Given the description of an element on the screen output the (x, y) to click on. 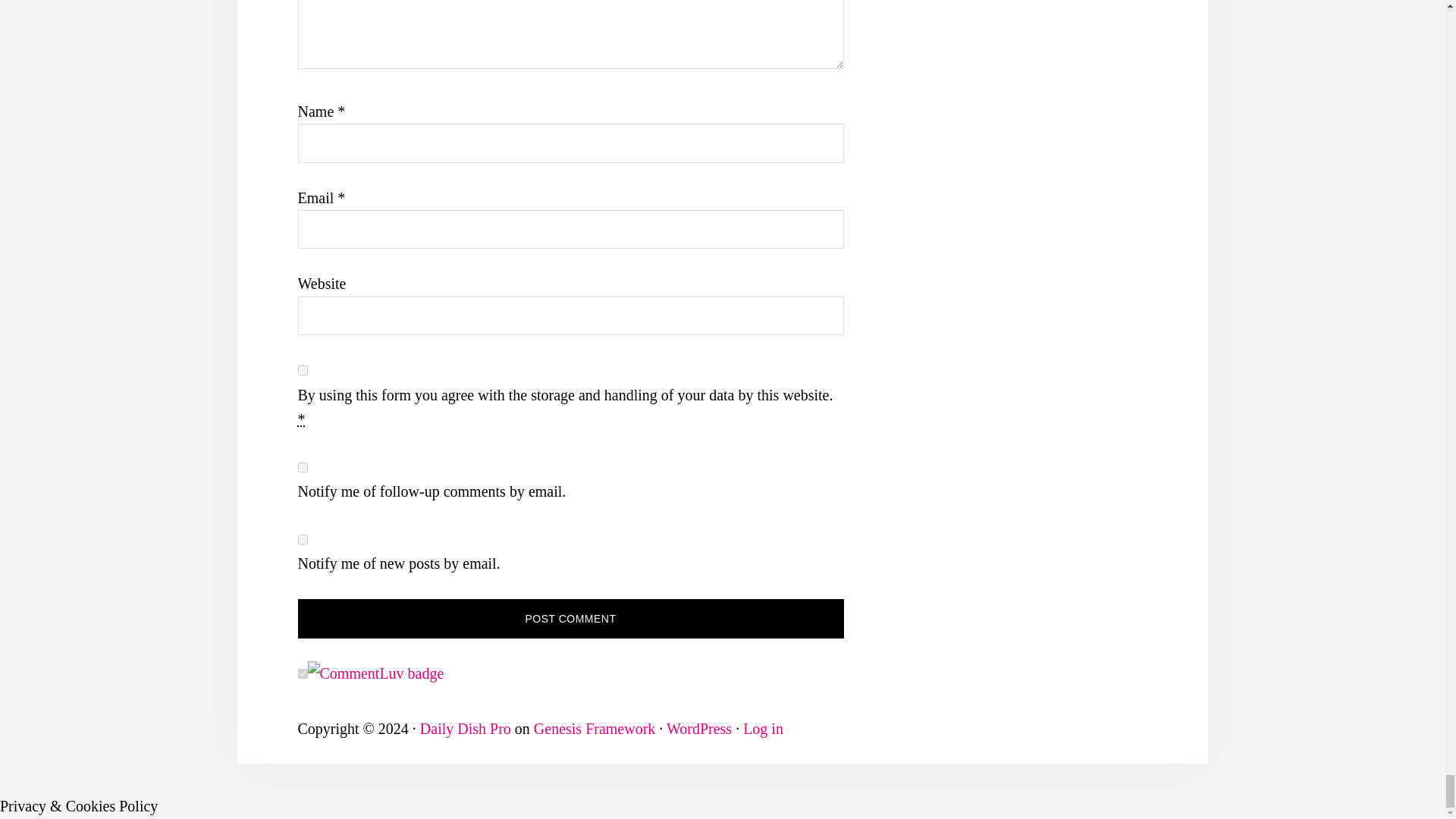
CommentLuv is enabled (375, 673)
on (302, 673)
1 (302, 370)
subscribe (302, 467)
Post Comment (570, 618)
subscribe (302, 539)
